Given the description of an element on the screen output the (x, y) to click on. 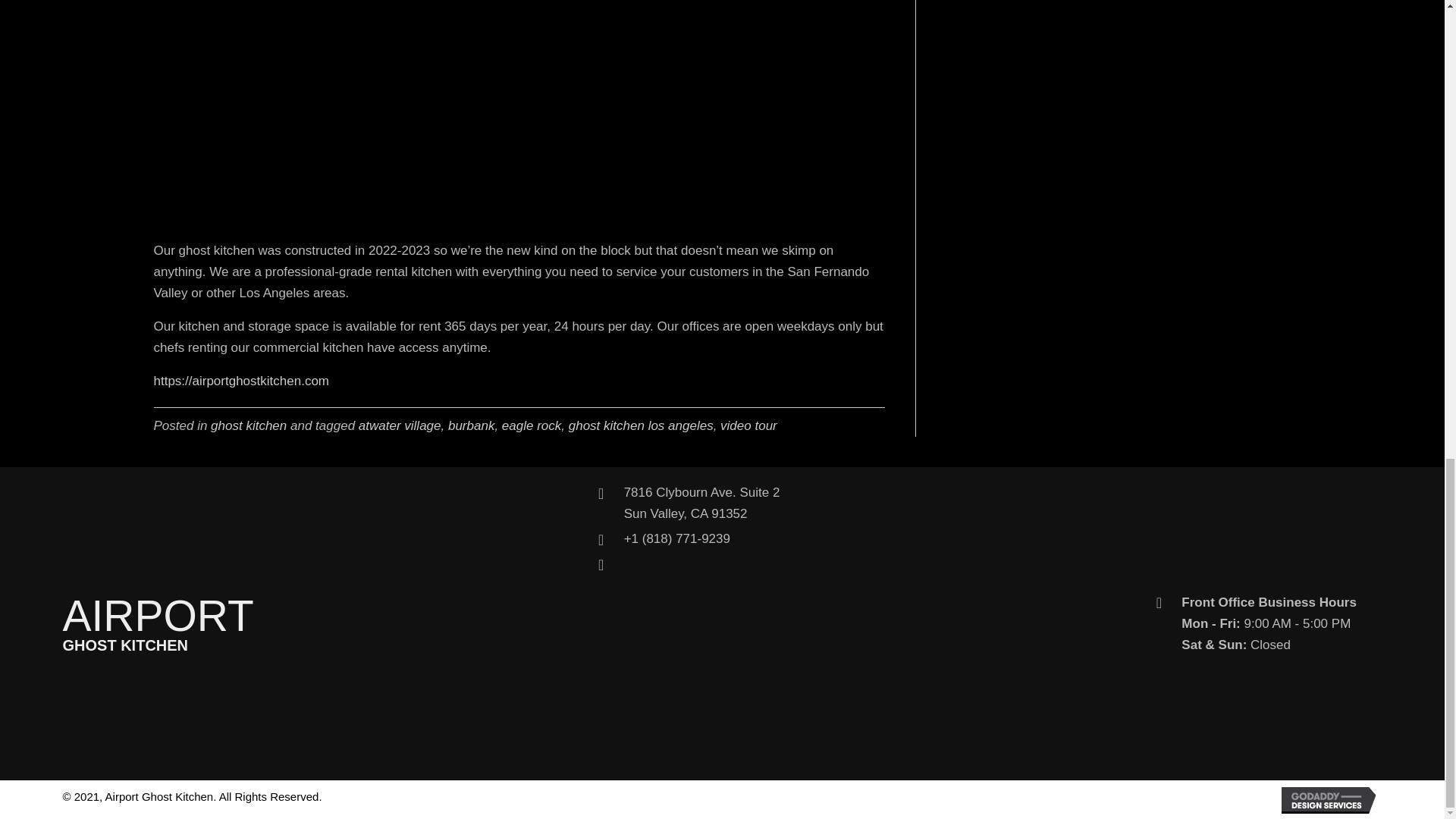
eagle rock (702, 502)
video tour (531, 425)
ghost kitchen (748, 425)
ghost kitchen los angeles (248, 425)
YouTube video player (641, 425)
burbank (399, 425)
